Given the description of an element on the screen output the (x, y) to click on. 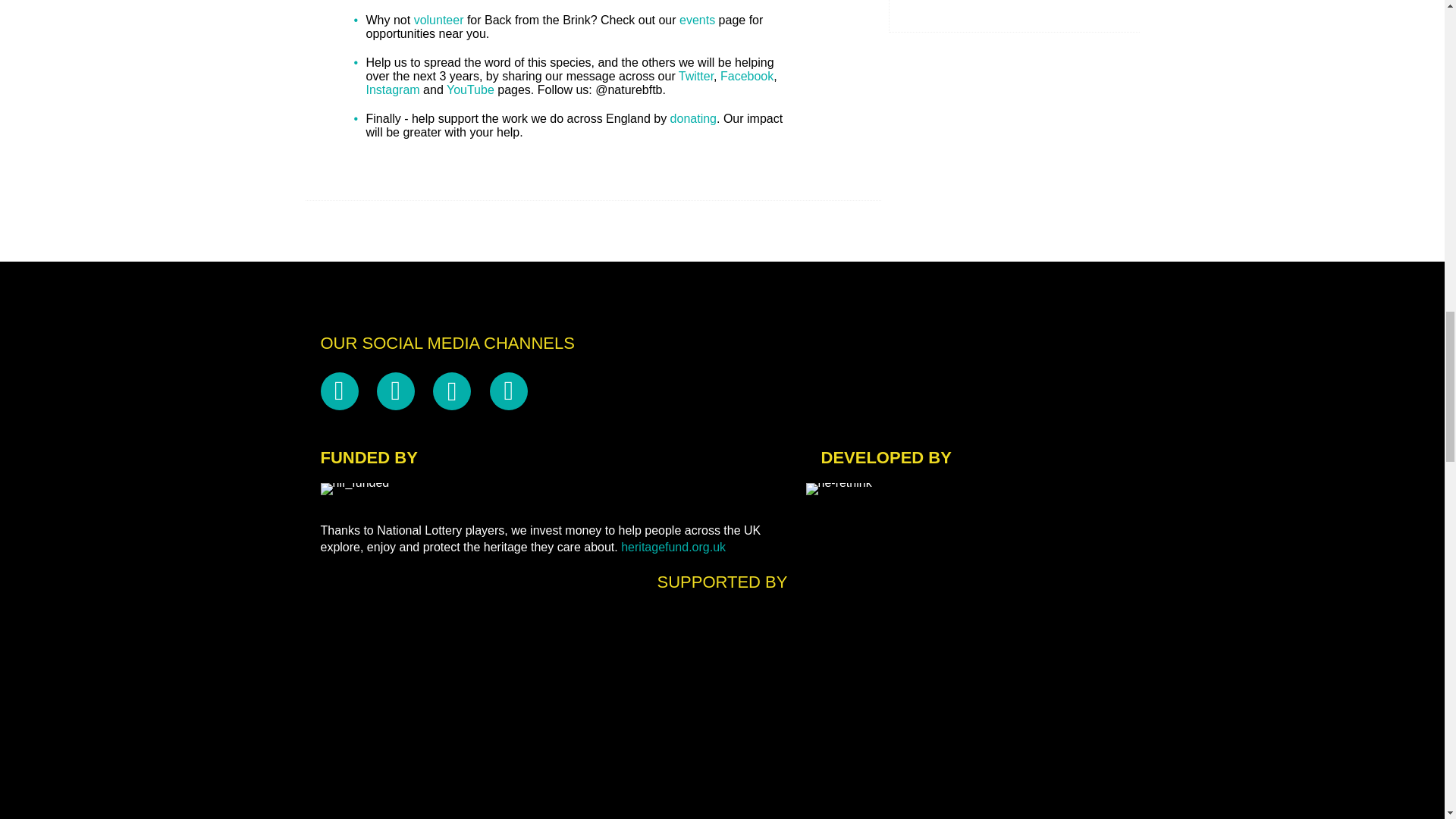
Twitter (695, 75)
events (696, 19)
Instagram (392, 89)
donating (692, 118)
volunteer (438, 19)
YouTube (471, 89)
ne-rethink (837, 489)
Facebook (746, 75)
